Given the description of an element on the screen output the (x, y) to click on. 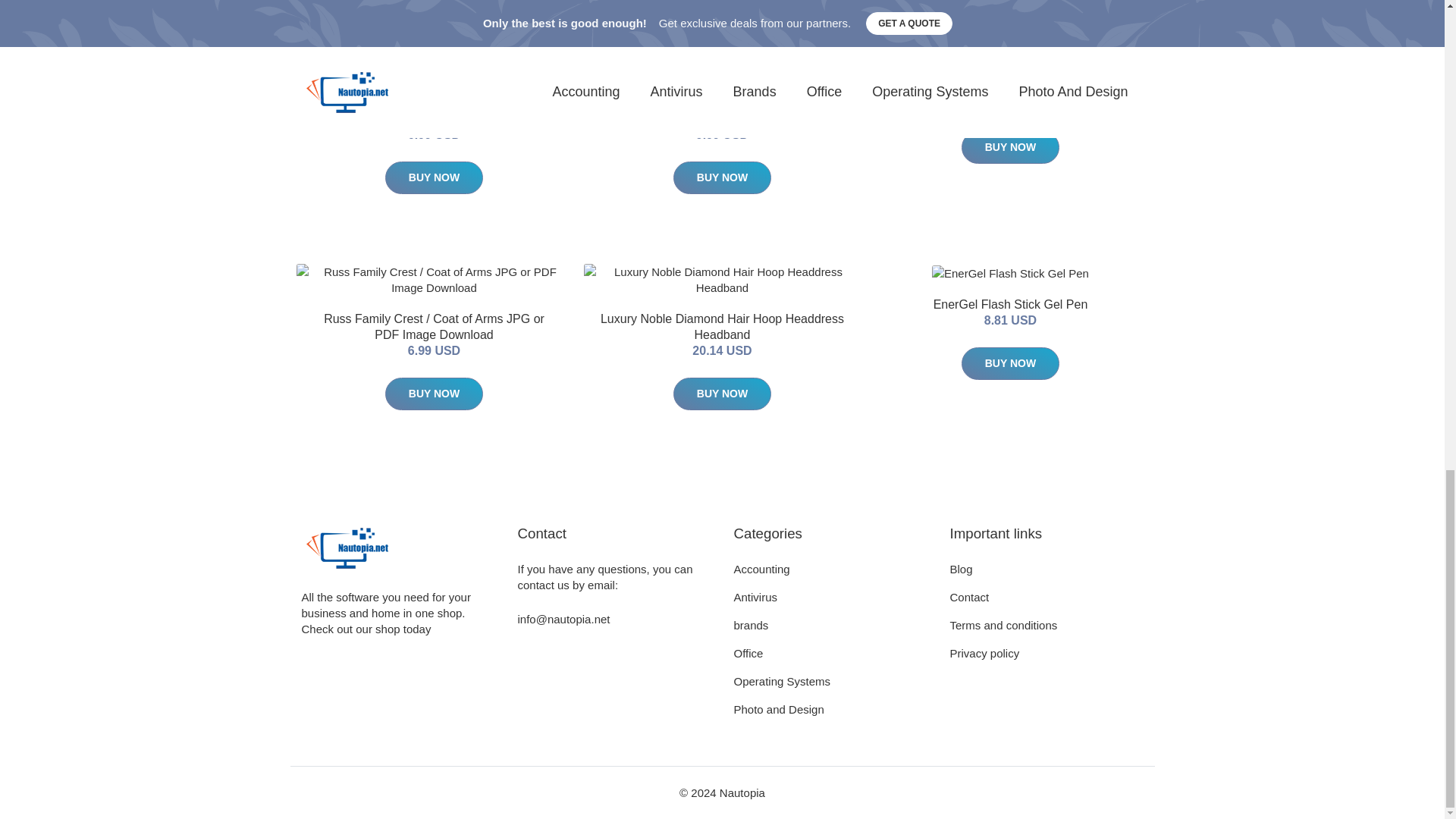
Original Lined Notes (1010, 87)
BUY NOW (721, 177)
BUY NOW (434, 177)
